Given the description of an element on the screen output the (x, y) to click on. 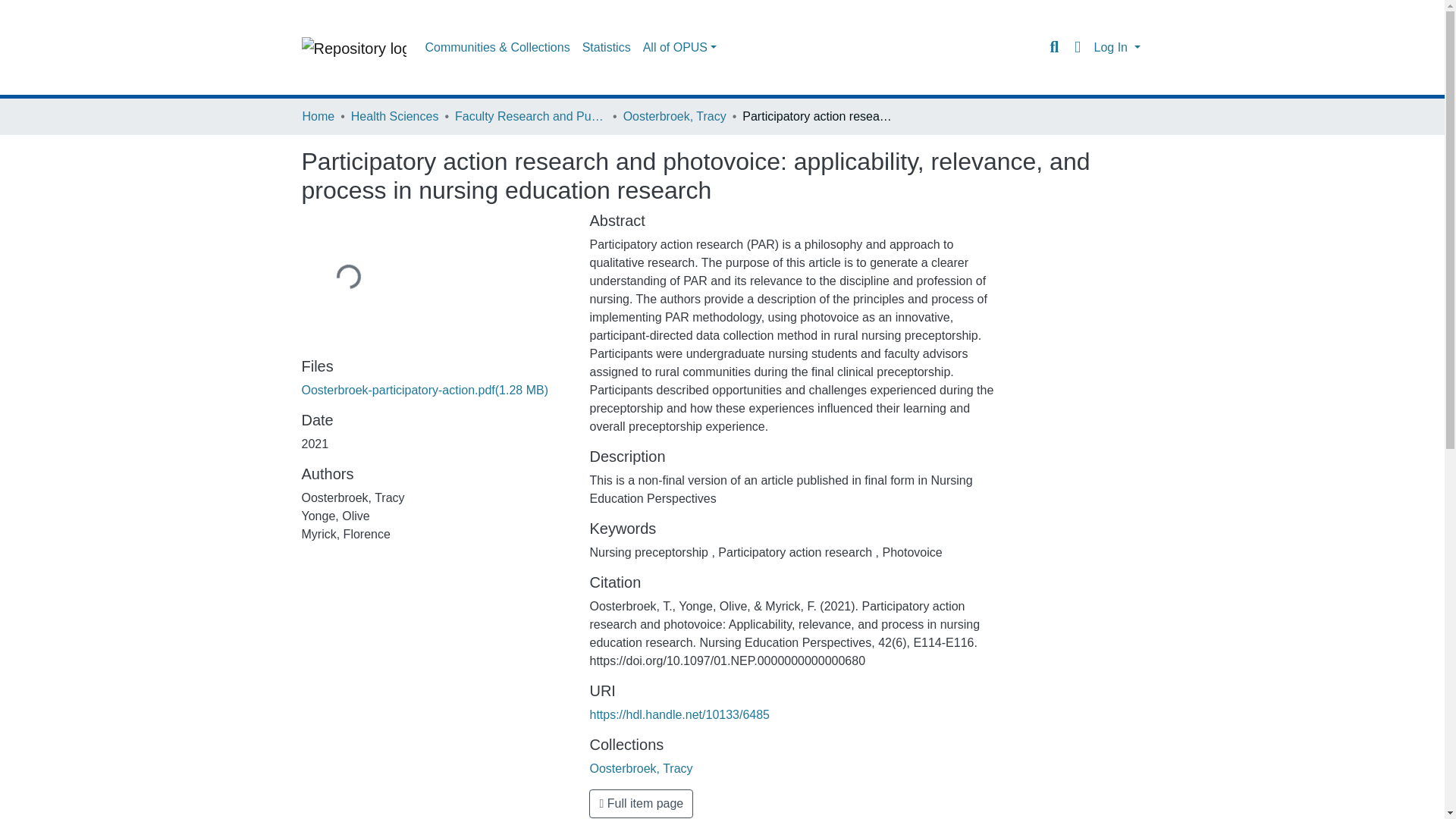
Faculty Research and Publications (530, 116)
Oosterbroek, Tracy (641, 768)
Log In (1116, 47)
Language switch (1077, 47)
Statistics (606, 47)
Health Sciences (394, 116)
Oosterbroek, Tracy (674, 116)
Full item page (641, 803)
Search (1053, 47)
Home (317, 116)
